Given the description of an element on the screen output the (x, y) to click on. 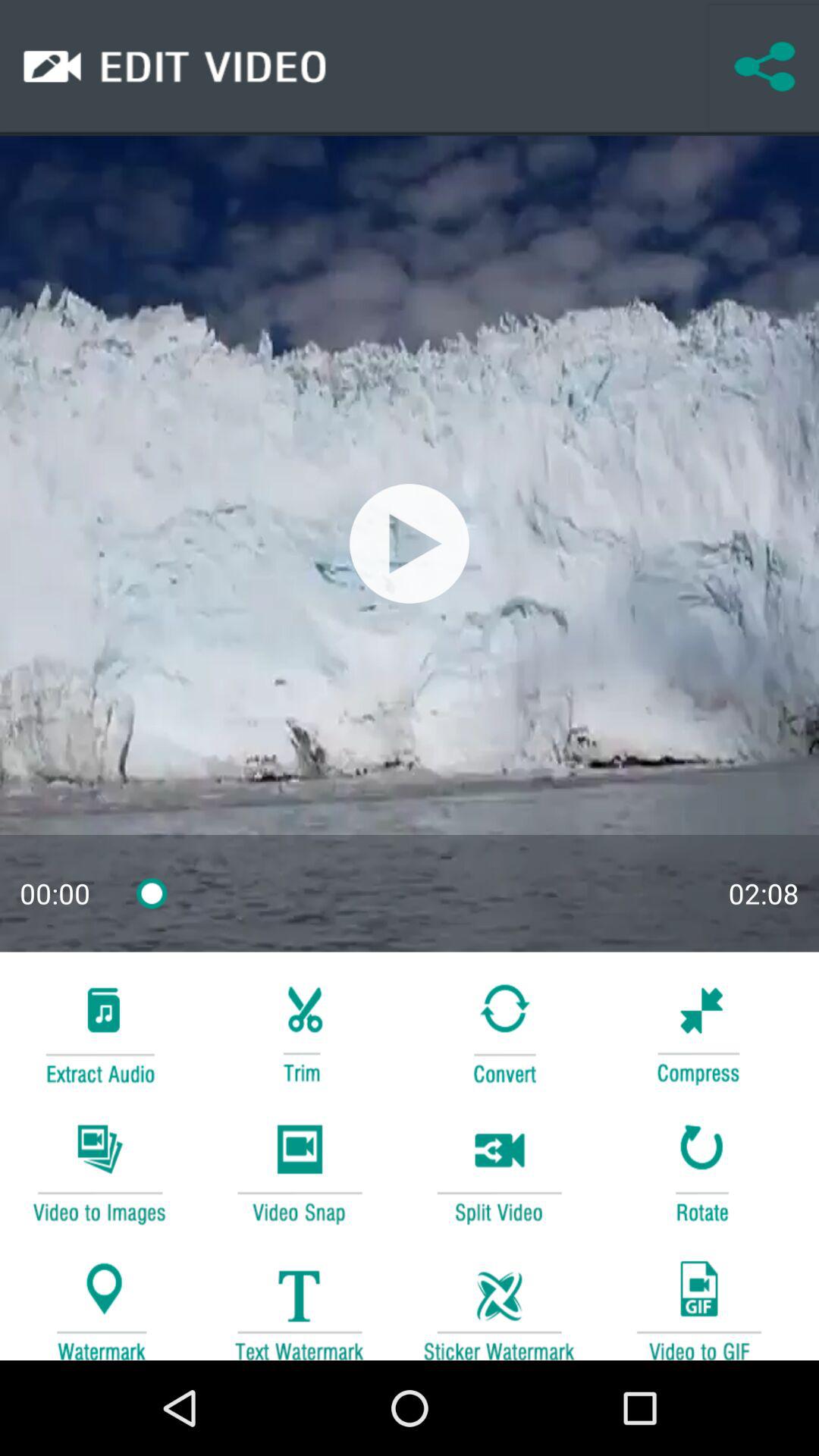
extract the audio play (99, 1032)
